Given the description of an element on the screen output the (x, y) to click on. 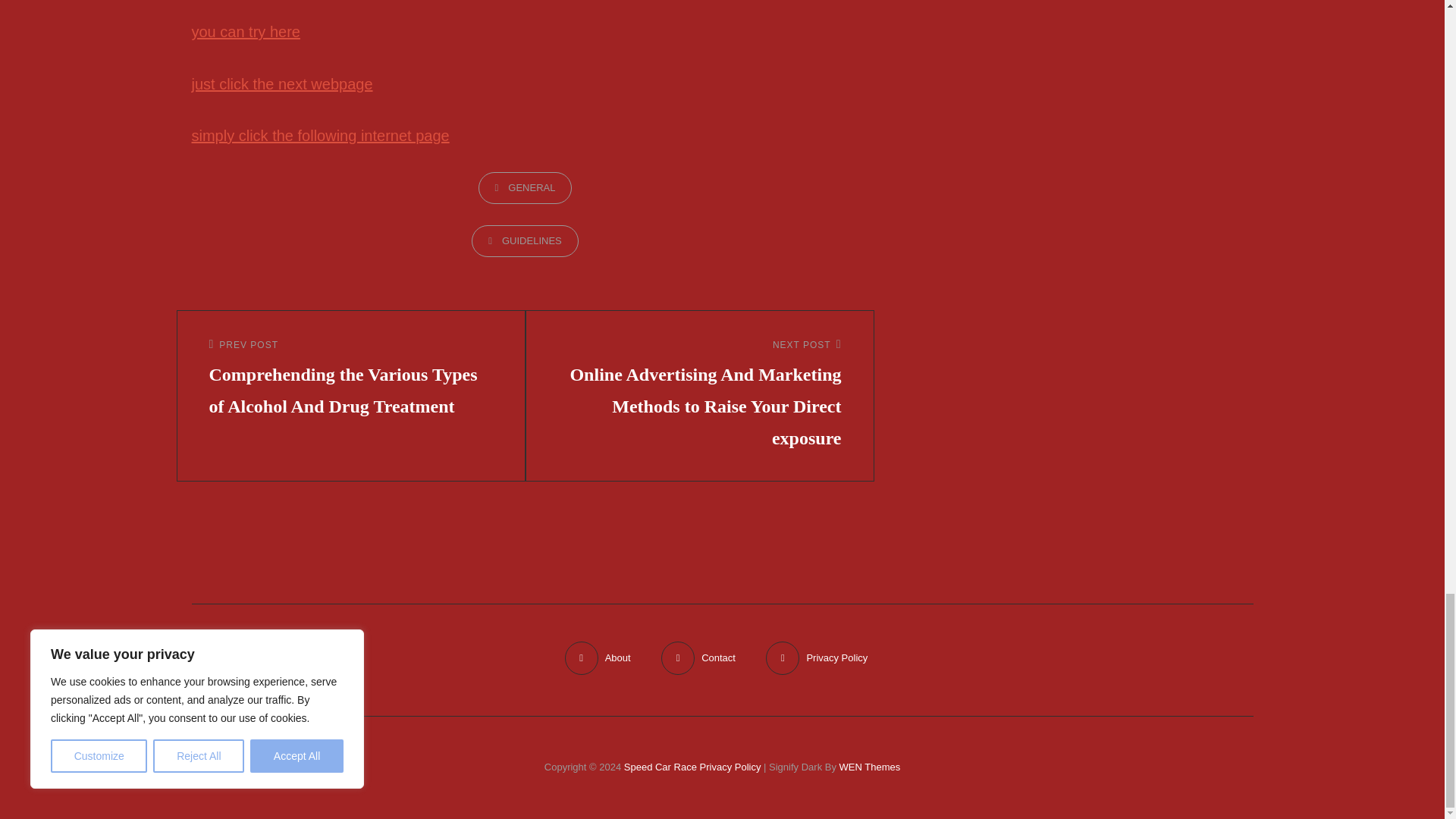
simply click the following internet page (319, 135)
you can try here (244, 31)
GENERAL (525, 187)
just click the next webpage (281, 84)
GUIDELINES (524, 241)
